Given the description of an element on the screen output the (x, y) to click on. 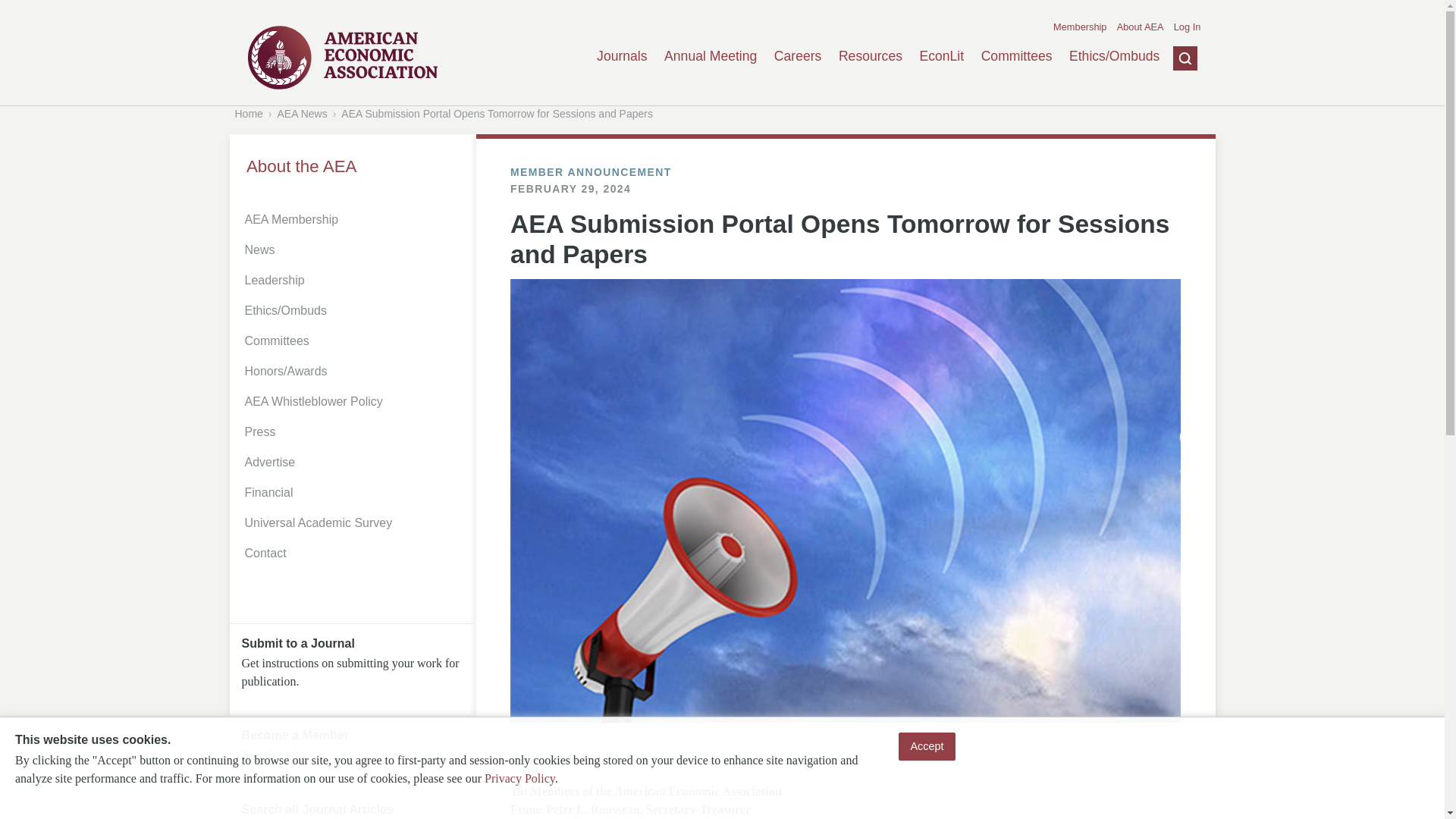
Careers (798, 55)
Press (355, 431)
Become a Member (294, 735)
News (355, 250)
Log In (1187, 26)
Privacy Policy (519, 778)
Financial (355, 492)
About the AEA (352, 166)
Committees (1016, 55)
Search all Journal Articles (317, 809)
